Given the description of an element on the screen output the (x, y) to click on. 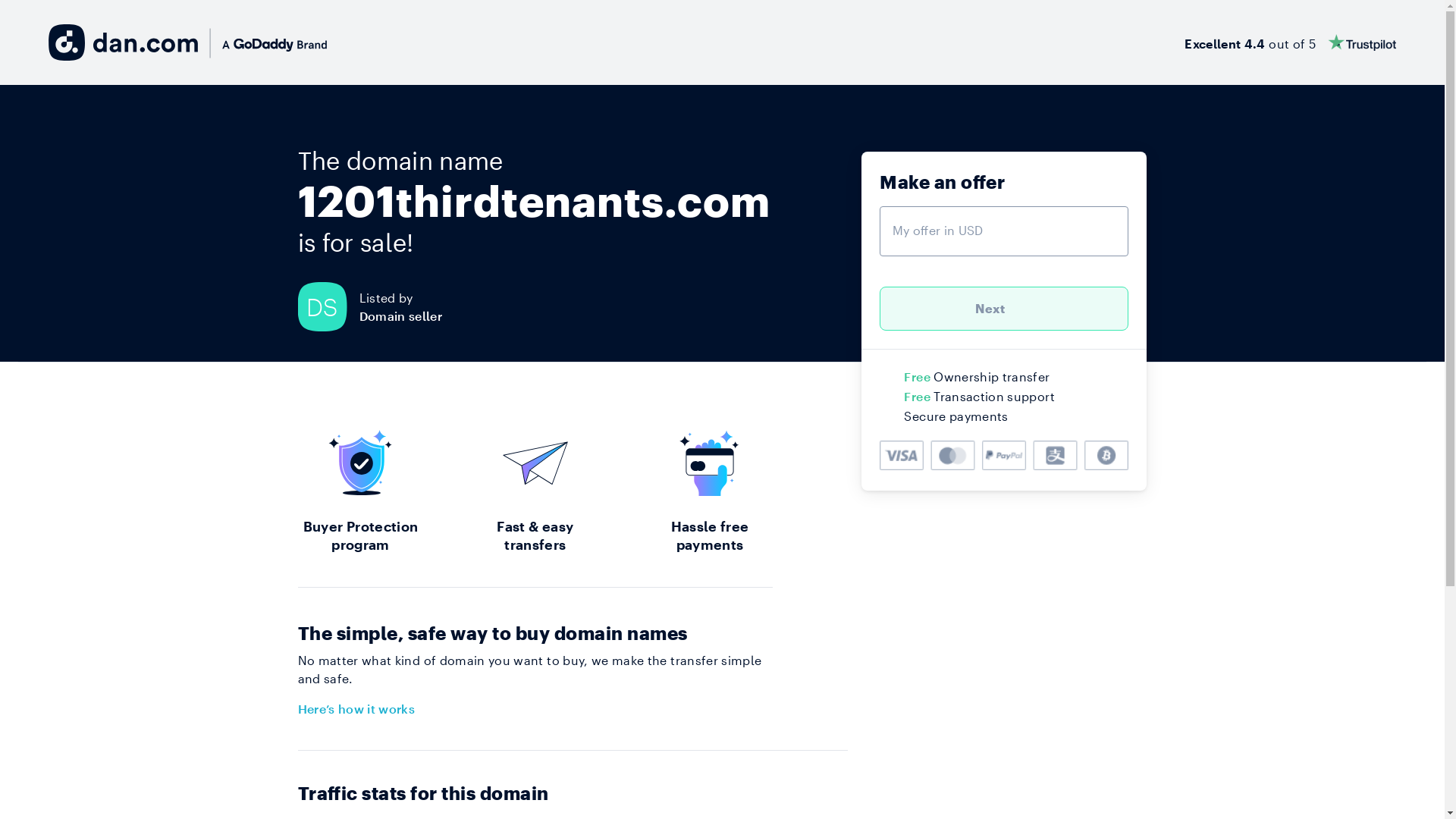
Excellent 4.4 out of 5 Element type: text (1290, 42)
DS Element type: text (327, 306)
Next
) Element type: text (1003, 308)
